Given the description of an element on the screen output the (x, y) to click on. 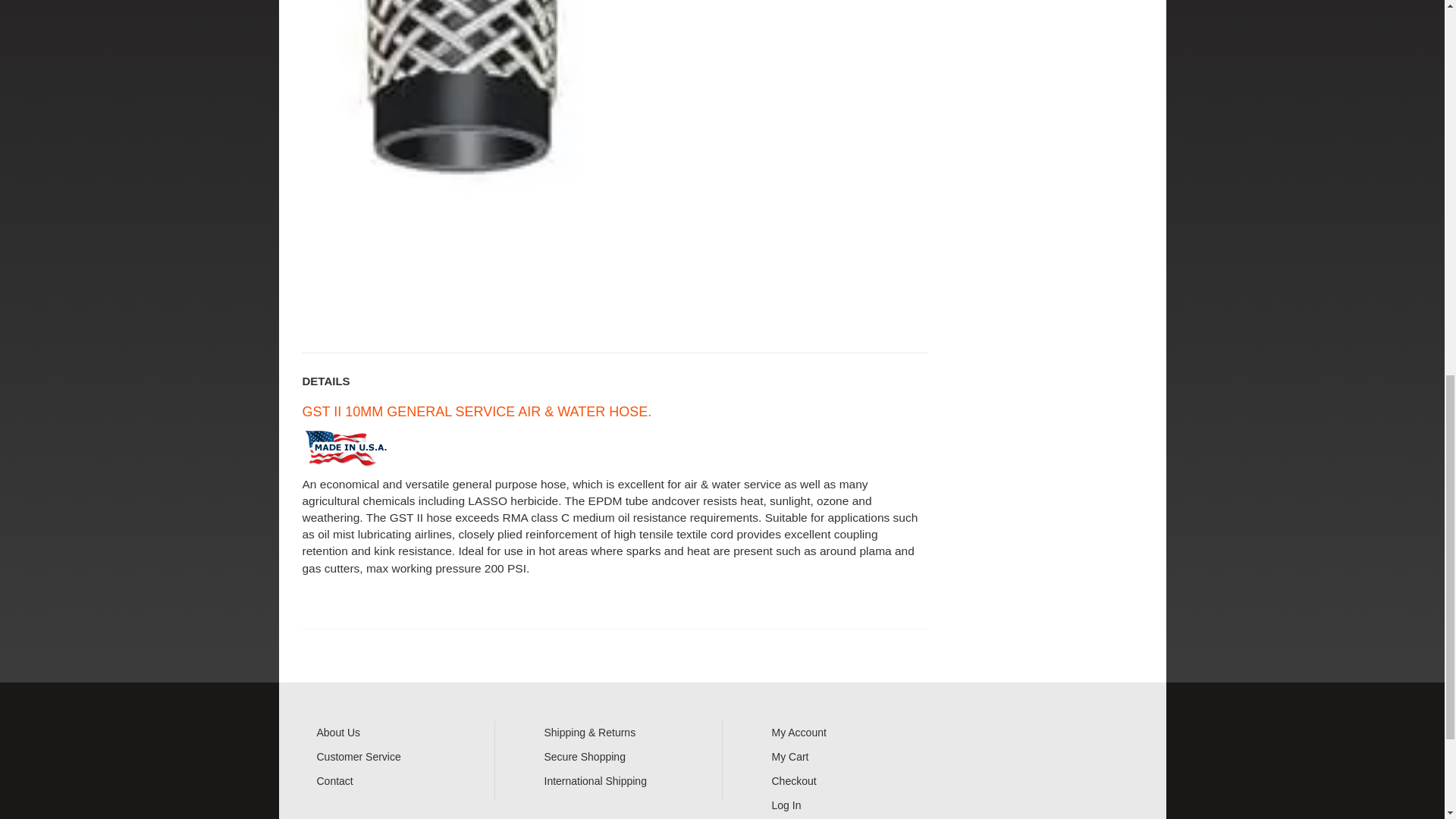
gstb10.jpg (457, 164)
